Given the description of an element on the screen output the (x, y) to click on. 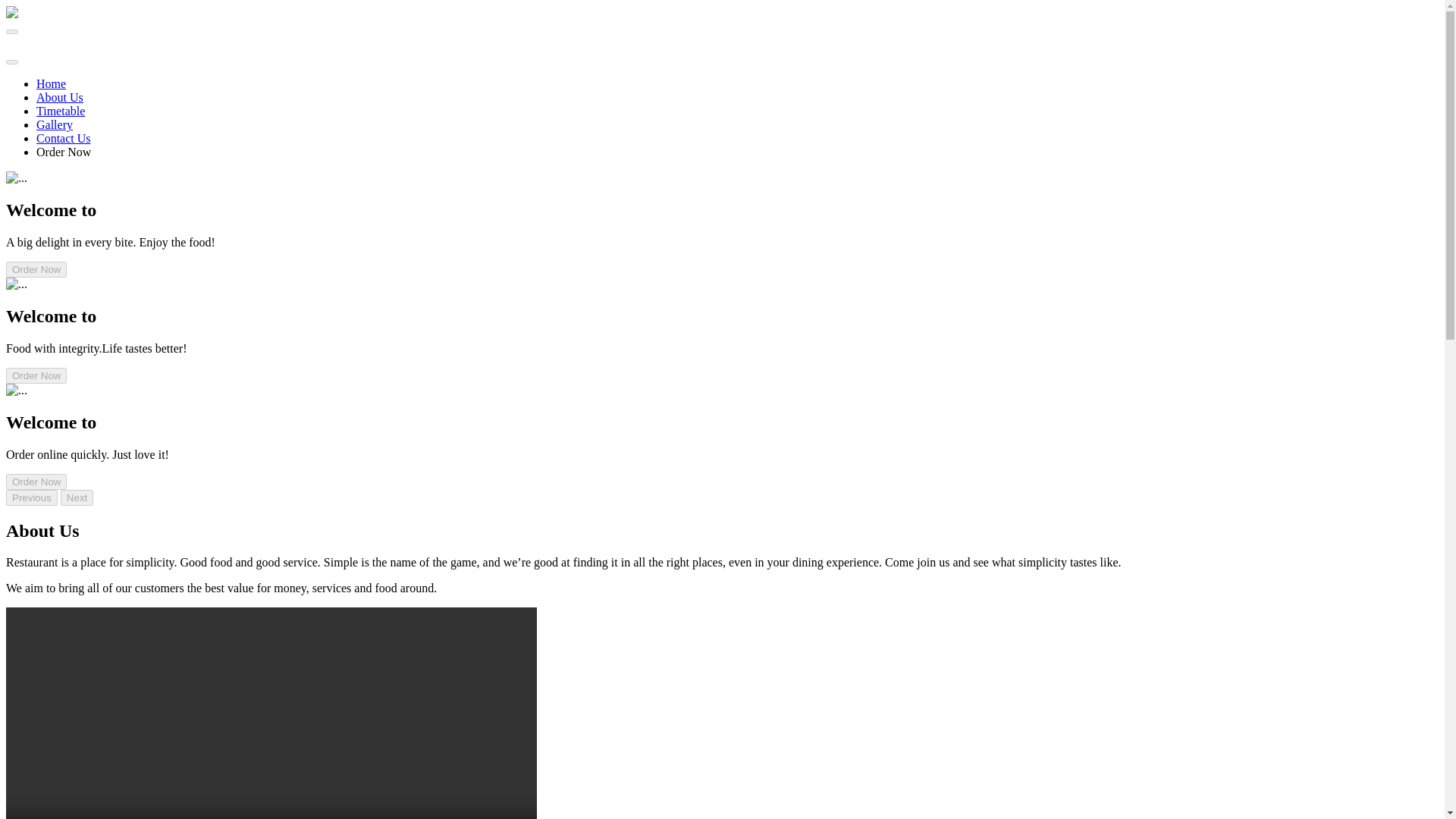
Previous (31, 497)
About Us (59, 97)
Order Now (35, 269)
Order Now (35, 481)
Next (77, 497)
Contact Us (63, 137)
Gallery (54, 124)
Order Now (35, 375)
Home (50, 83)
Timetable (60, 110)
